Given the description of an element on the screen output the (x, y) to click on. 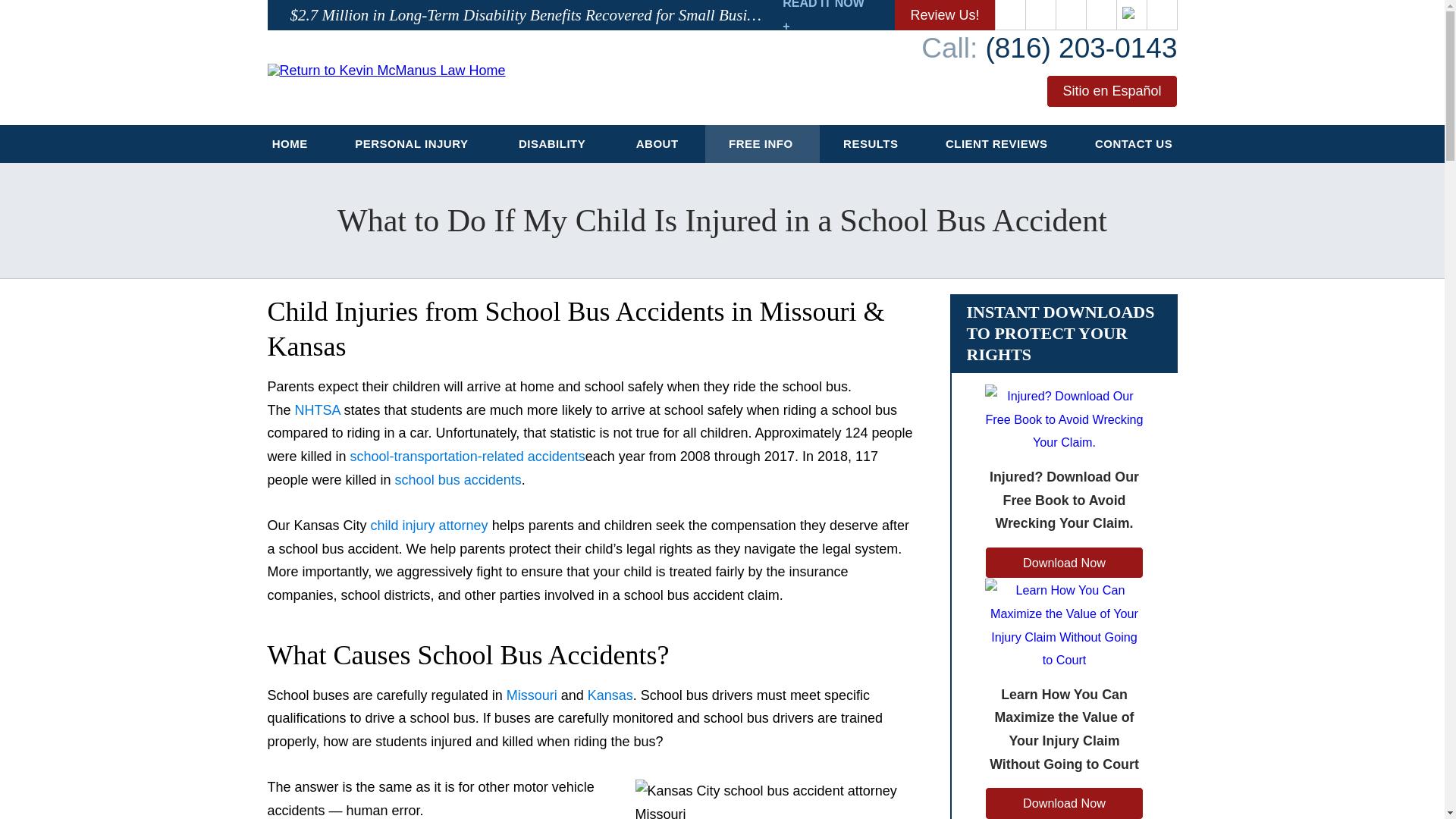
ABOUT (658, 144)
Search (1161, 15)
PERSONAL INJURY (413, 144)
DISABILITY (553, 144)
Review Us! (944, 15)
HOME (289, 144)
